Given the description of an element on the screen output the (x, y) to click on. 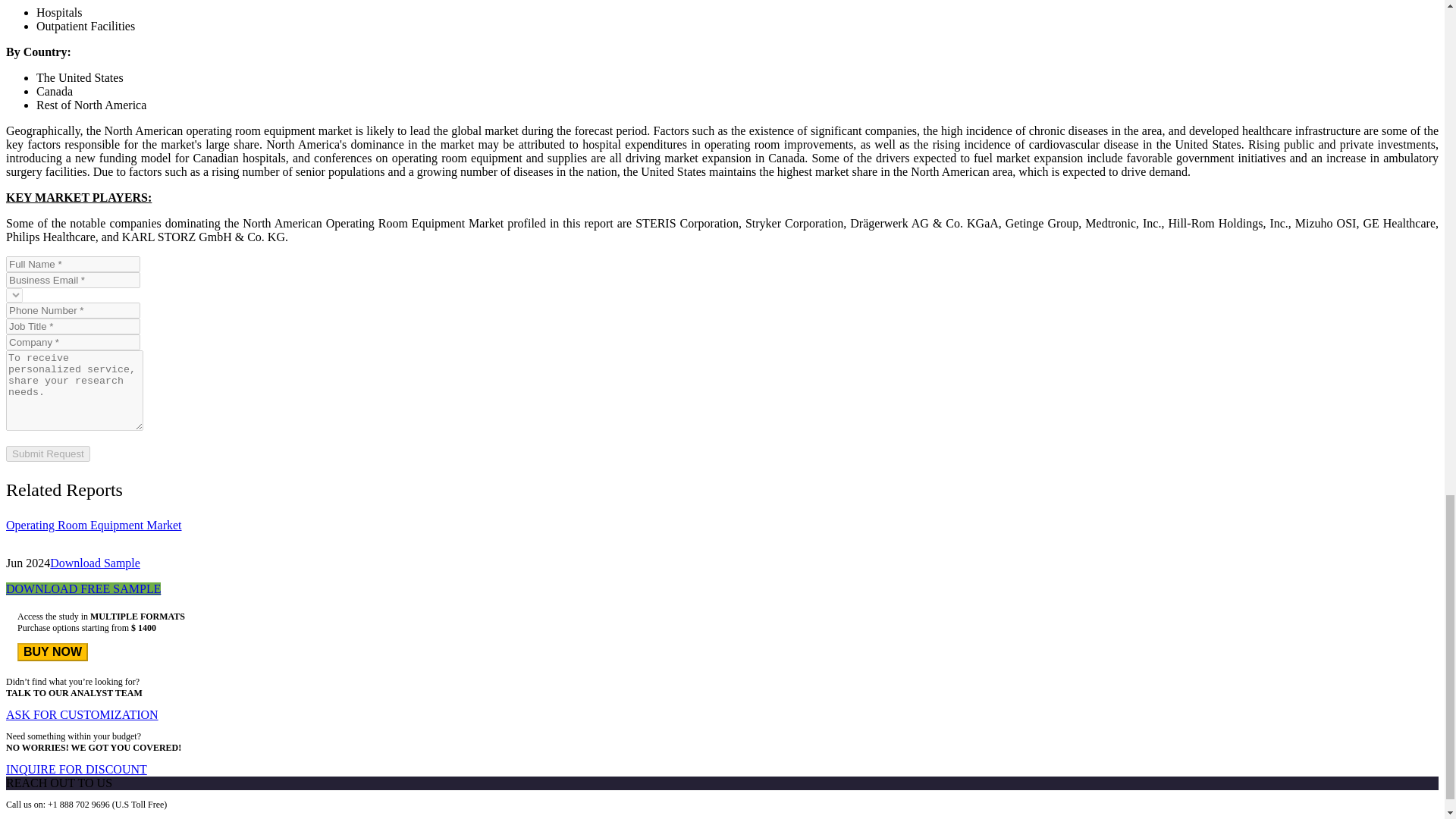
Submit Request (47, 453)
Submit Request (47, 453)
